Given the description of an element on the screen output the (x, y) to click on. 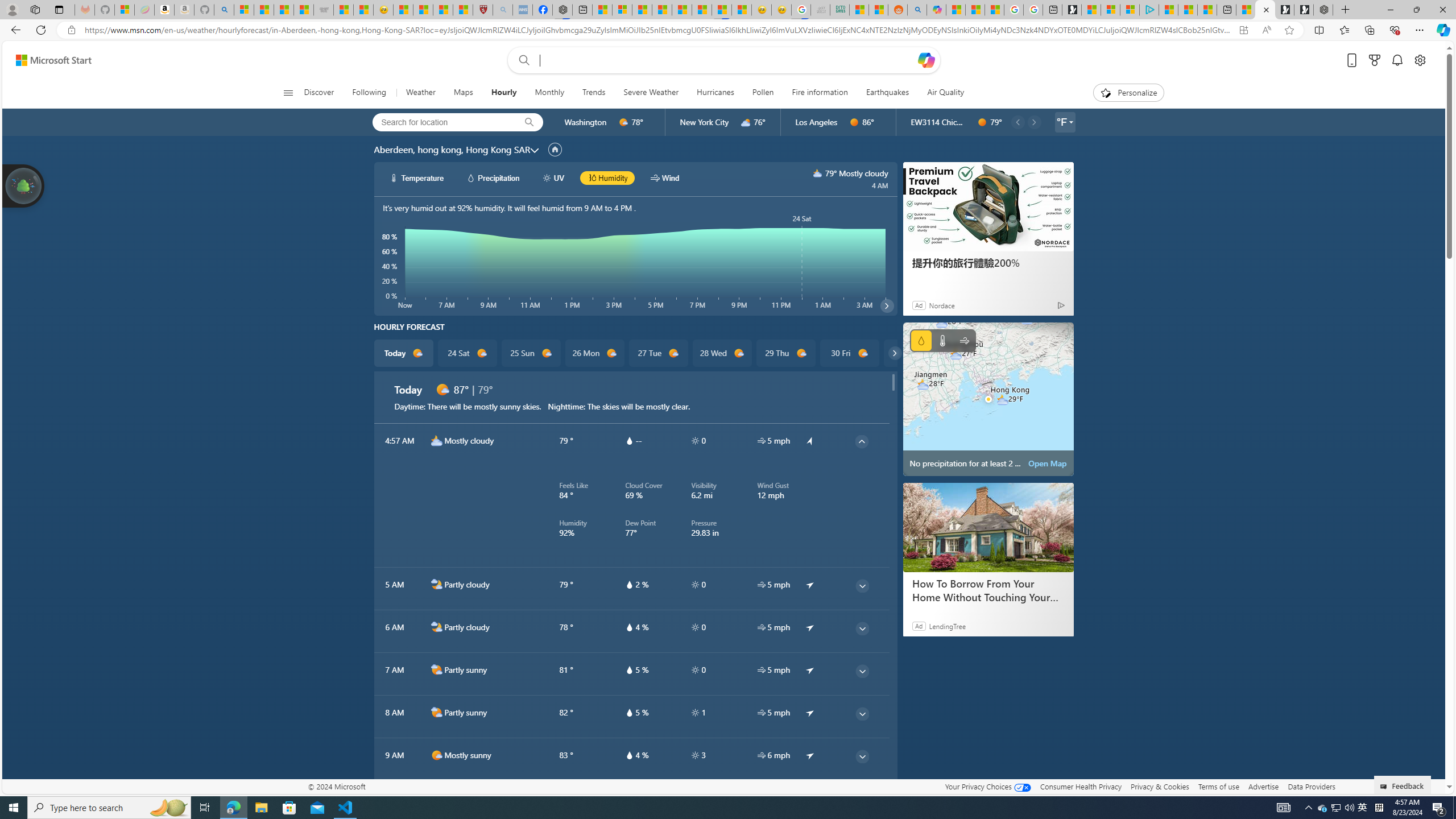
28 Wed d1000 (721, 352)
Search for location (440, 122)
hourlyChart/uvWhite UV (553, 178)
These 3 Stocks Pay You More Than 5% to Own Them (1206, 9)
hourlyTable/wind (761, 755)
